Given the description of an element on the screen output the (x, y) to click on. 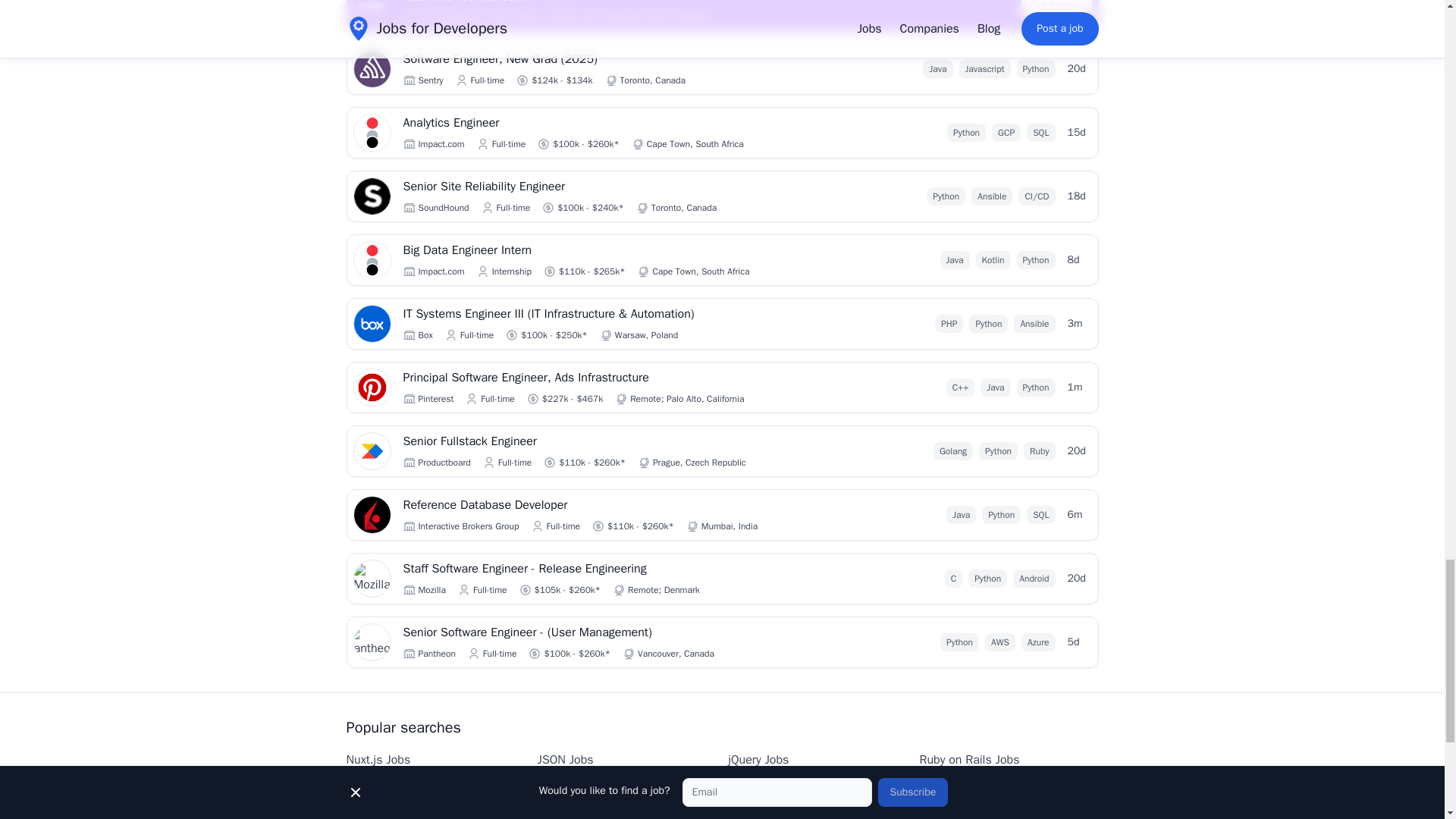
Toronto, Canada (652, 80)
Senior Site Reliability Engineer (593, 186)
Cape Town, South Africa (700, 271)
Cape Town, South Africa (695, 143)
Big Data Engineer Intern (593, 249)
Toronto, Canada (652, 80)
